Given the description of an element on the screen output the (x, y) to click on. 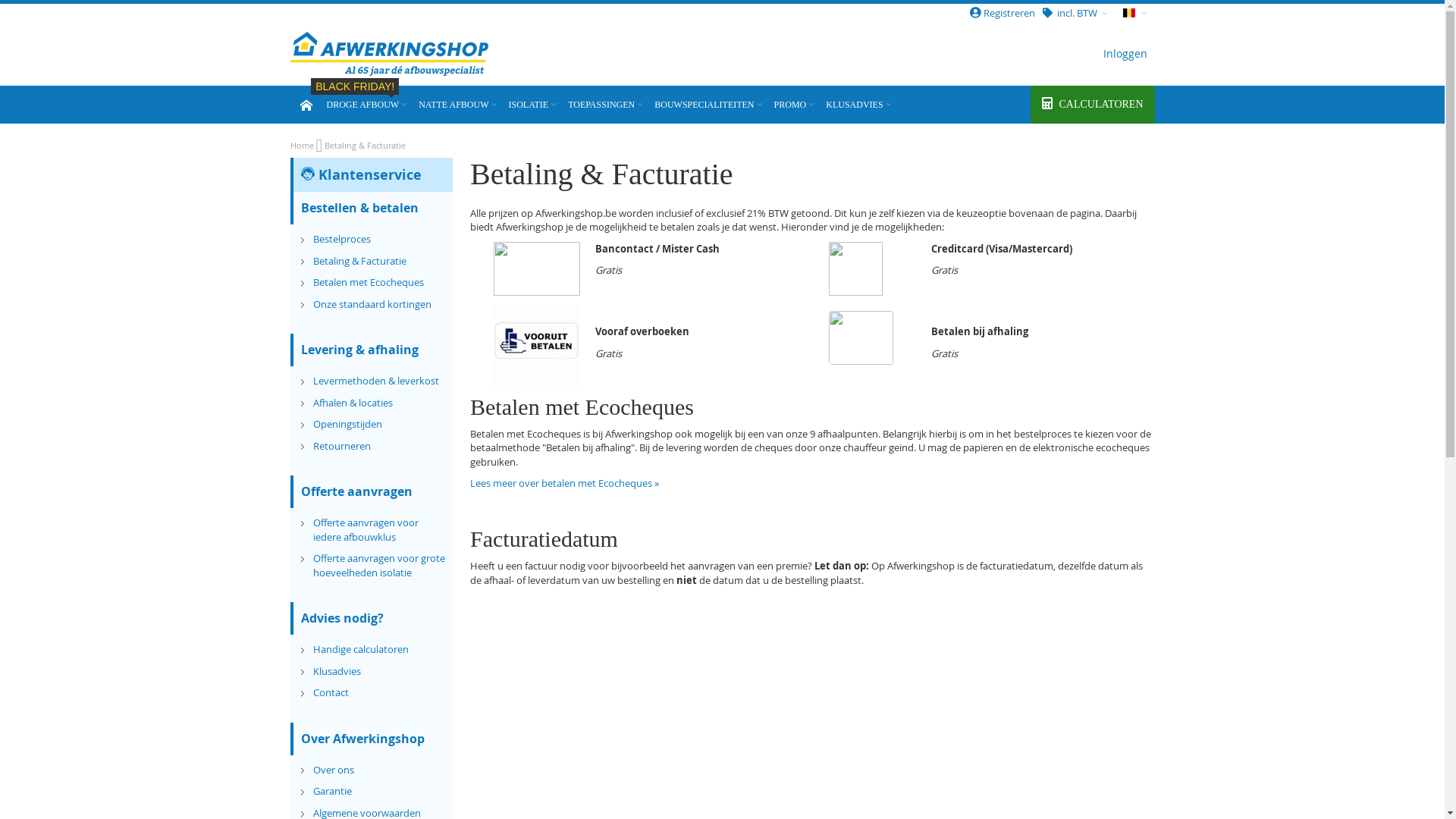
Betalen met Ecocheques Element type: text (367, 281)
Taal Element type: hover (1134, 12)
Contact Element type: text (330, 692)
Registreren Element type: text (1001, 12)
Home Element type: text (302, 145)
Afhalen & locaties Element type: text (352, 402)
Betaling & Facturatie Element type: text (358, 260)
Onze standaard kortingen Element type: text (371, 303)
Bestelproces Element type: text (341, 238)
TOEPASSINGEN Element type: text (606, 104)
Retourneren Element type: text (341, 445)
Over ons Element type: text (332, 769)
Offerte aanvragen voor iedere afbouwklus Element type: text (364, 529)
ISOLATIE Element type: text (534, 104)
Offerte aanvragen voor grote hoeveelheden isolatie Element type: text (378, 565)
Afwerkingshop Element type: hover (388, 53)
KLUSADVIES Element type: text (859, 104)
CALCULATOREN Element type: text (1092, 104)
Garantie Element type: text (331, 790)
BOUWSPECIALITEITEN Element type: text (708, 104)
Openingstijden Element type: text (346, 423)
Inloggen Element type: text (1122, 53)
NATTE AFBOUW Element type: text (458, 104)
Levermethoden & leverkost Element type: text (375, 380)
Klantenservice Element type: text (360, 174)
DROGE AFBOUW
BLACK FRIDAY! Element type: text (367, 104)
PROMO Element type: text (795, 104)
Handige calculatoren Element type: text (359, 648)
Klusadvies Element type: text (336, 670)
